Given the description of an element on the screen output the (x, y) to click on. 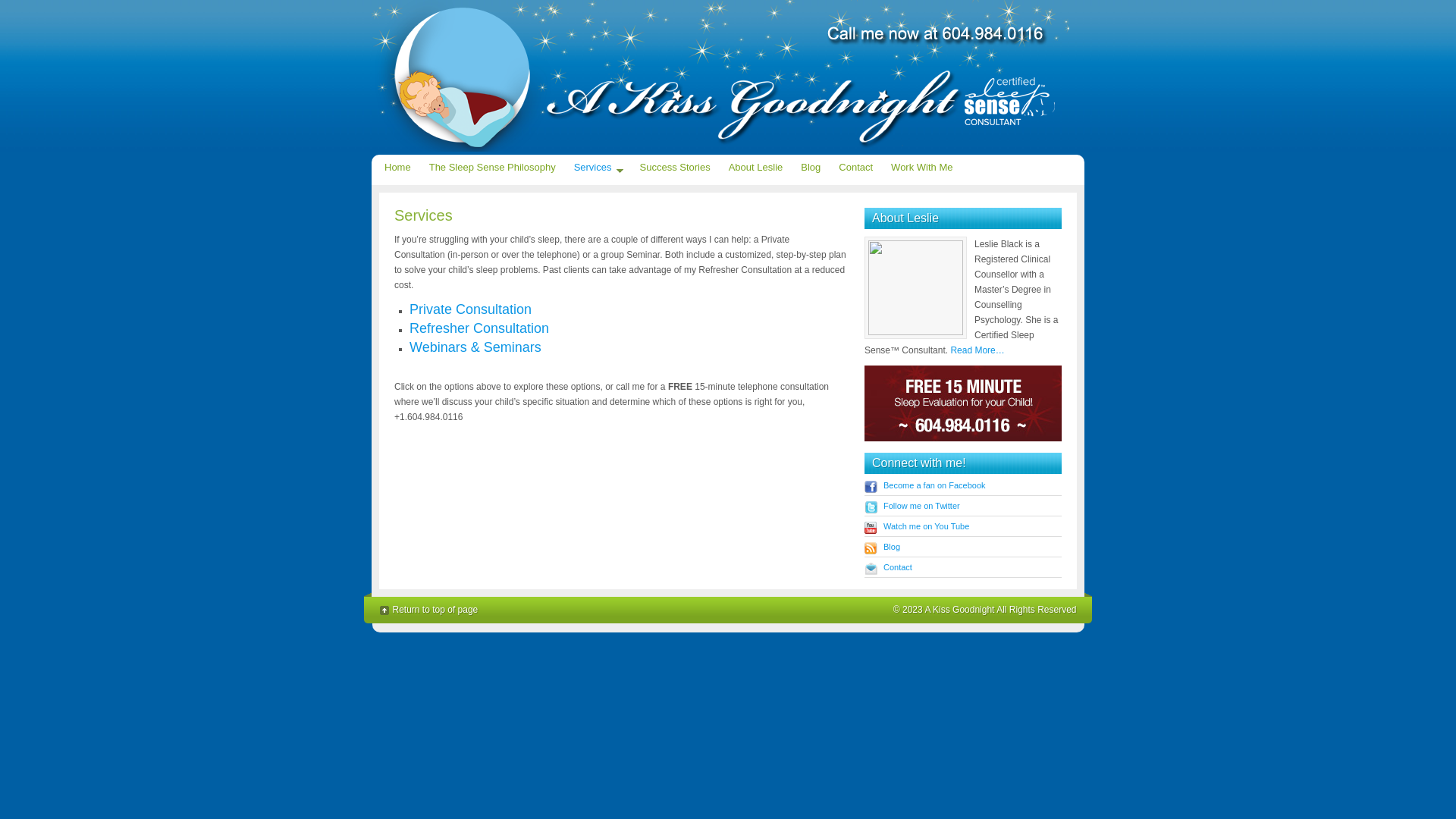
About Leslie Element type: text (755, 167)
Webinars & Seminars Element type: text (475, 346)
Blog Element type: text (810, 167)
Blog Element type: text (891, 546)
Follow me on Twitter Element type: text (921, 505)
Contact Element type: text (855, 167)
Home Element type: text (397, 167)
The Sleep Sense Philosophy Element type: text (492, 167)
Private Consultation Element type: text (470, 308)
Refresher Consultation Element type: text (479, 327)
Become a fan on Facebook Element type: text (934, 484)
Return to top of page Element type: text (428, 611)
A Kiss Goodnight Element type: text (959, 609)
Success Stories Element type: text (674, 167)
Work With Me Element type: text (921, 167)
A Kiss Goodnight Element type: text (727, 77)
Watch me on You Tube Element type: text (926, 525)
Contact Element type: text (897, 566)
